Given the description of an element on the screen output the (x, y) to click on. 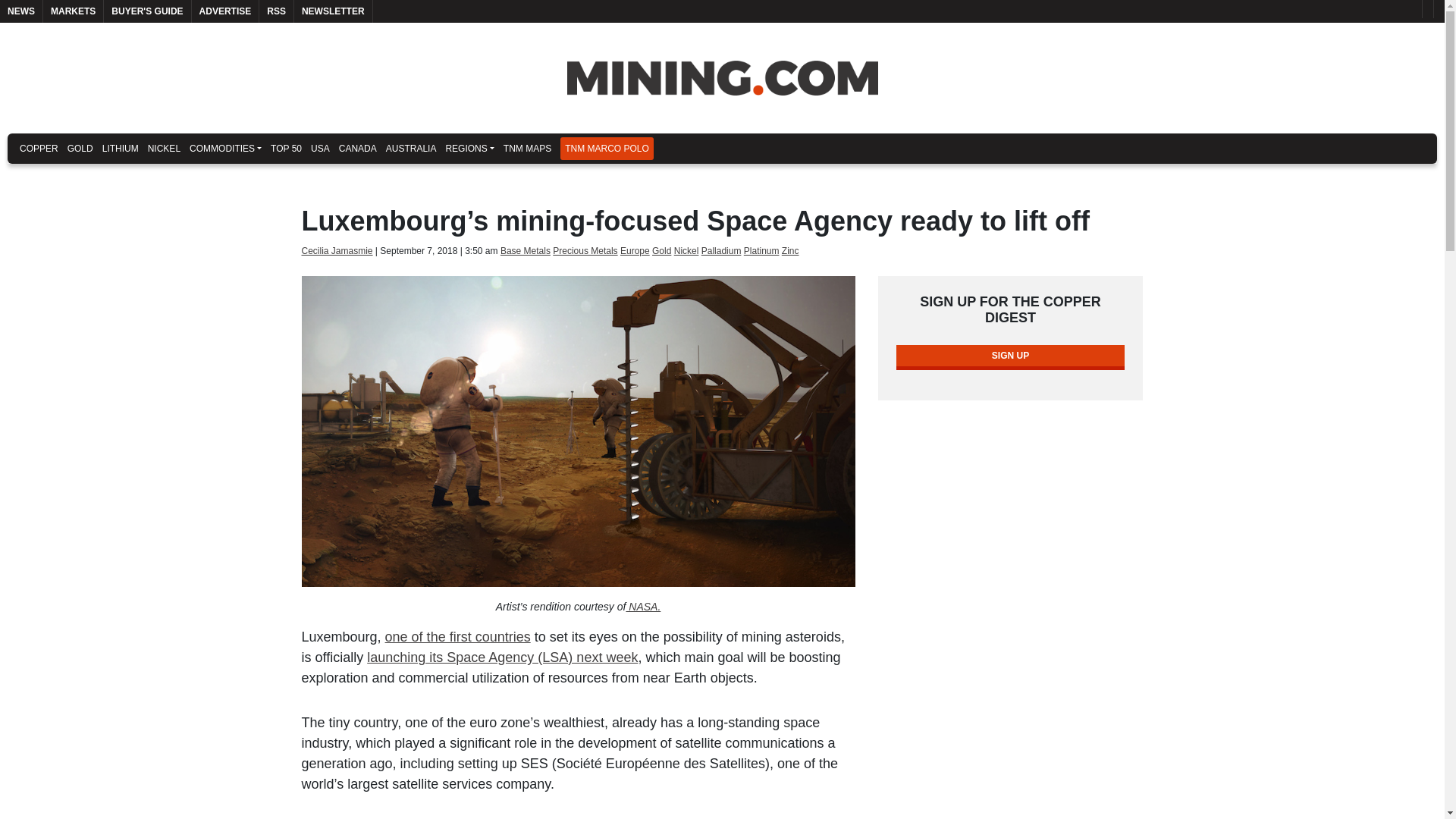
LITHIUM (119, 148)
COPPER (38, 148)
RSS (276, 11)
GOLD (79, 148)
NICKEL (163, 148)
MARKETS (73, 11)
COMMODITIES (225, 148)
BUYER'S GUIDE (146, 11)
NEWS (21, 11)
NEWSLETTER (333, 11)
